Given the description of an element on the screen output the (x, y) to click on. 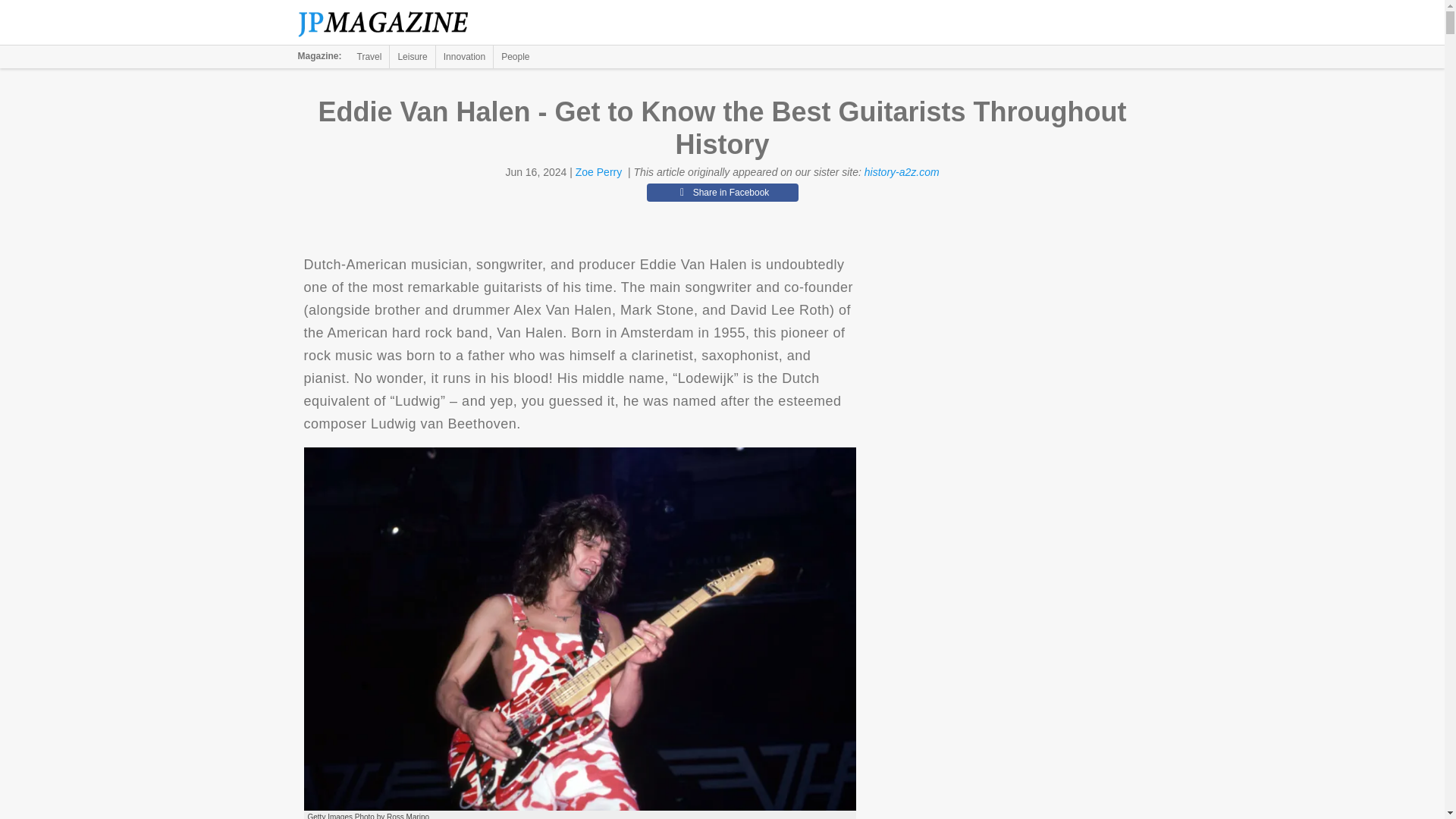
Travel (369, 56)
People (515, 56)
history-a2z.com (901, 172)
The Jerusalem Post Magazine (391, 22)
Innovation (464, 56)
Share in Facebook (721, 192)
Leisure (411, 56)
Zoe Perry (598, 172)
